Given the description of an element on the screen output the (x, y) to click on. 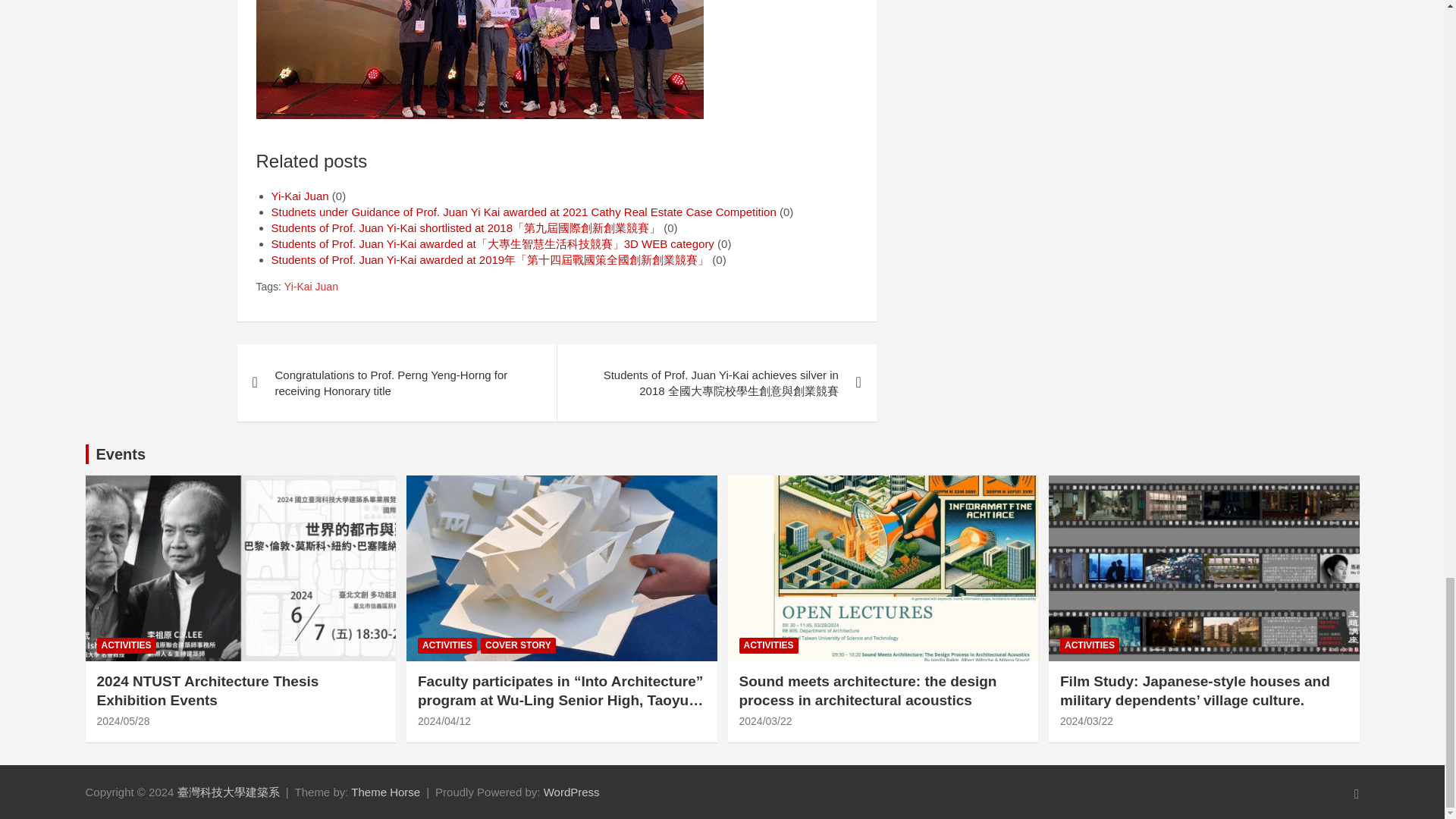
1.photo3-1 (479, 59)
2024 NTUST Architecture Thesis Exhibition Events (123, 720)
Theme Horse (385, 791)
